Given the description of an element on the screen output the (x, y) to click on. 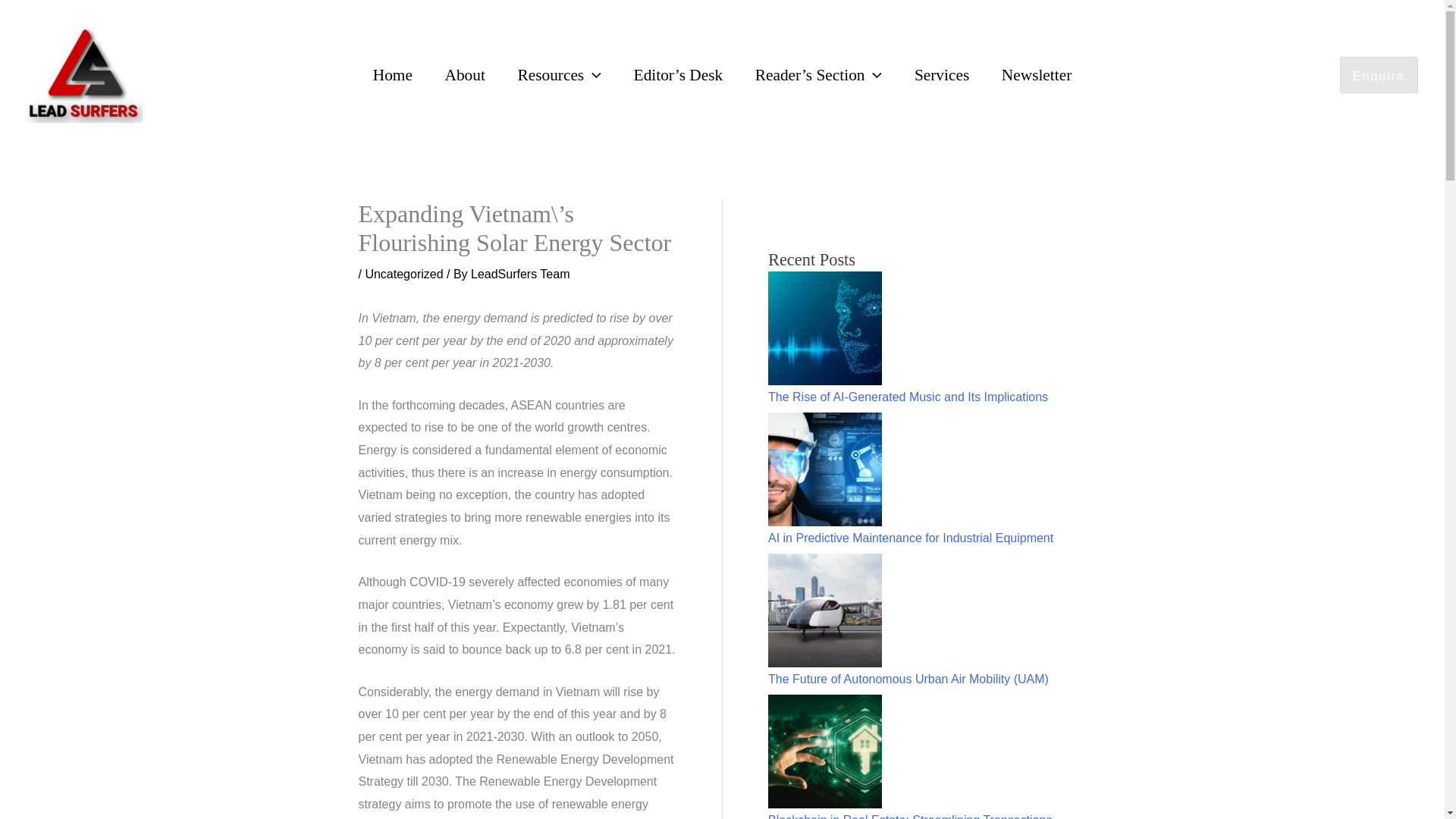
View all posts by LeadSurfers Team (519, 273)
About (464, 75)
Resources (558, 75)
Newsletter (1036, 75)
Enquire (1378, 74)
Services (941, 75)
Uncategorized (403, 273)
LeadSurfers Team (519, 273)
The Rise of AI-Generated Music and Its Implications (908, 396)
Home (392, 75)
